Given the description of an element on the screen output the (x, y) to click on. 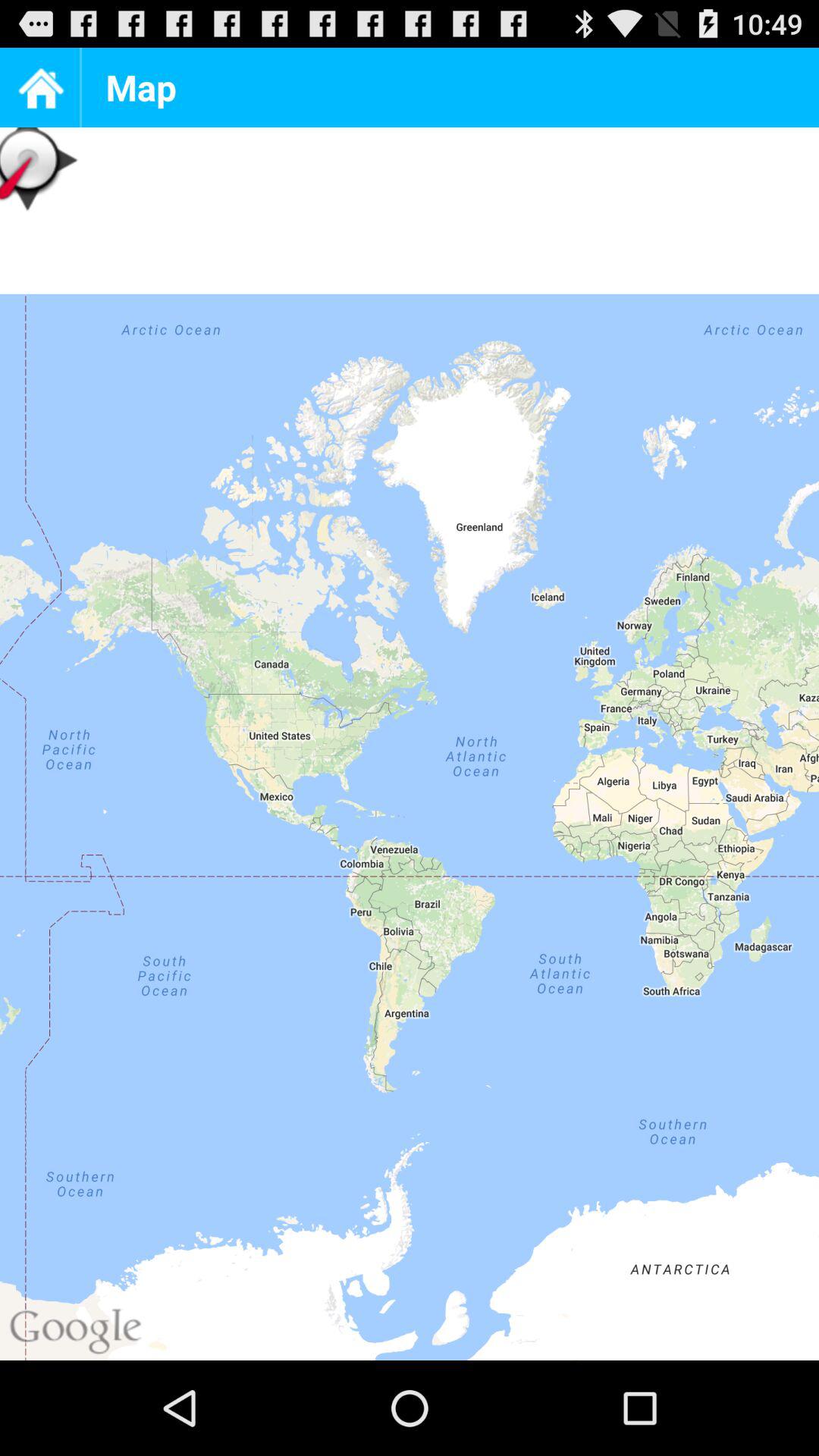
go to home page (39, 87)
